Given the description of an element on the screen output the (x, y) to click on. 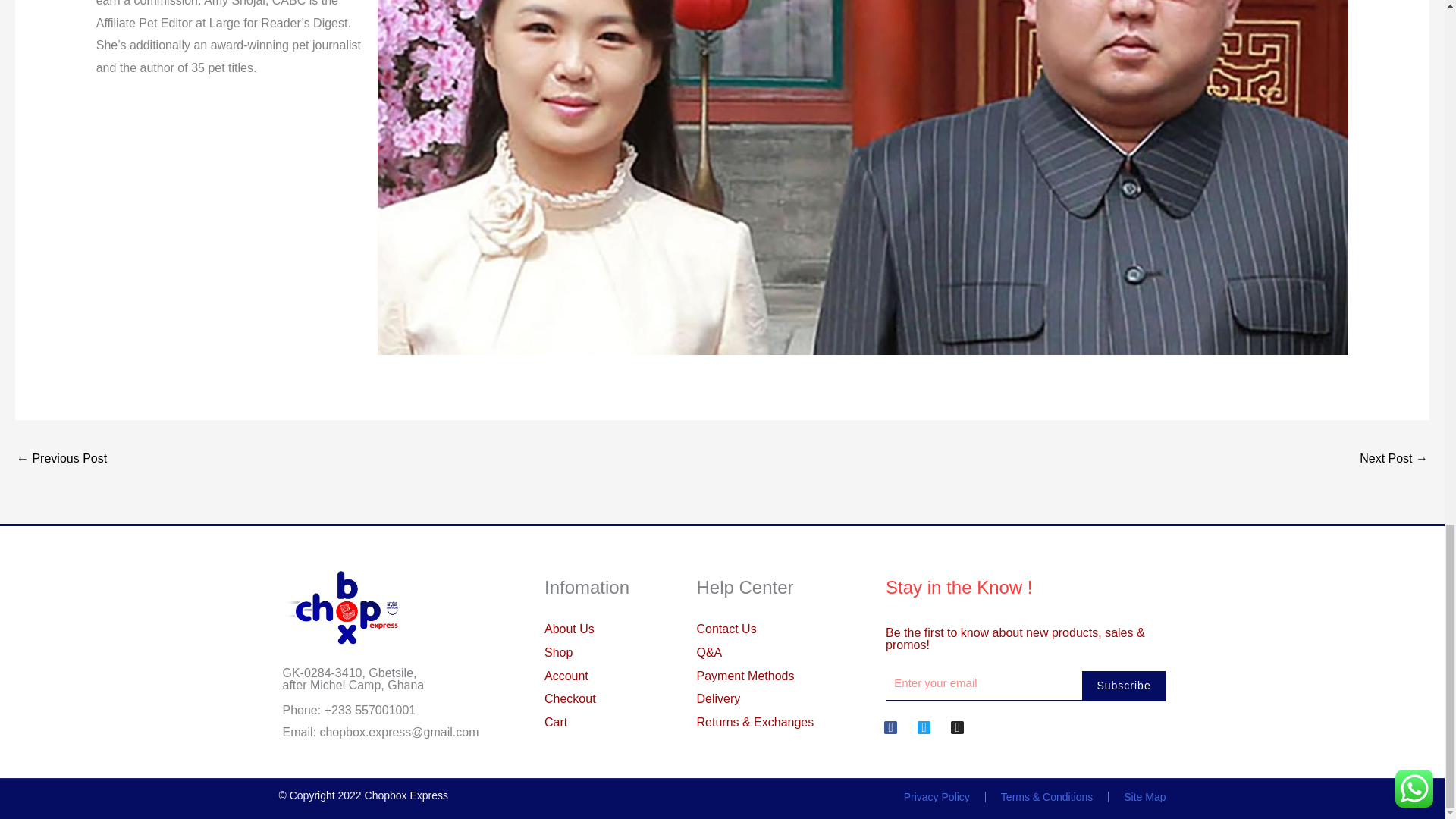
Shop (633, 652)
Checkout (633, 698)
Cart (633, 722)
Account (633, 676)
About Us (633, 629)
Adult Chat Rooms No Registration (61, 459)
Contact Us (775, 629)
Delivery (775, 698)
Payment Methods (775, 676)
